Given the description of an element on the screen output the (x, y) to click on. 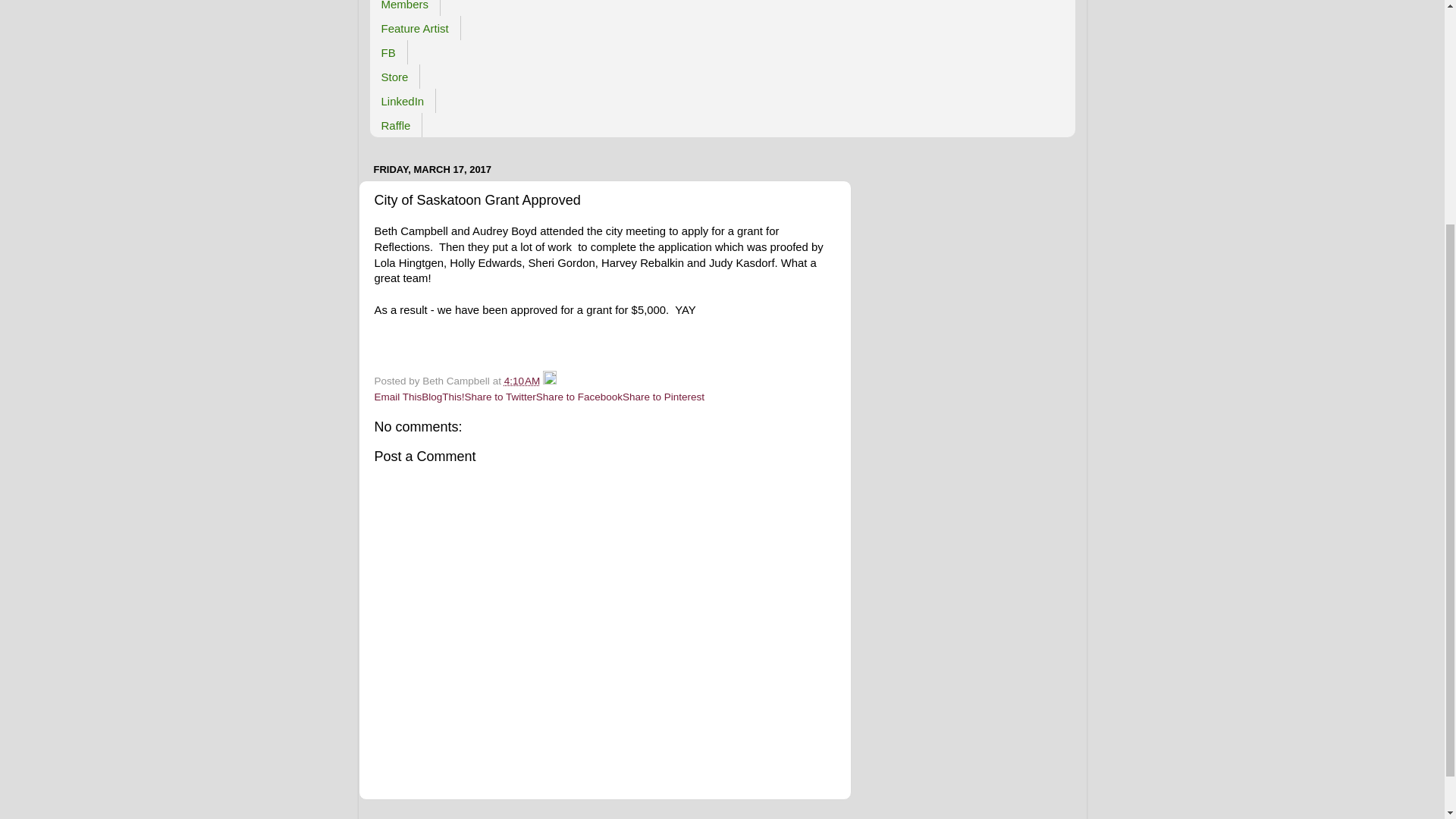
Raffle (396, 125)
BlogThis! (443, 396)
Members (405, 7)
permanent link (521, 380)
Share to Twitter (499, 396)
LinkedIn (402, 100)
Edit Post (549, 380)
Store (394, 76)
Feature Artist (415, 27)
Share to Facebook (579, 396)
